Given the description of an element on the screen output the (x, y) to click on. 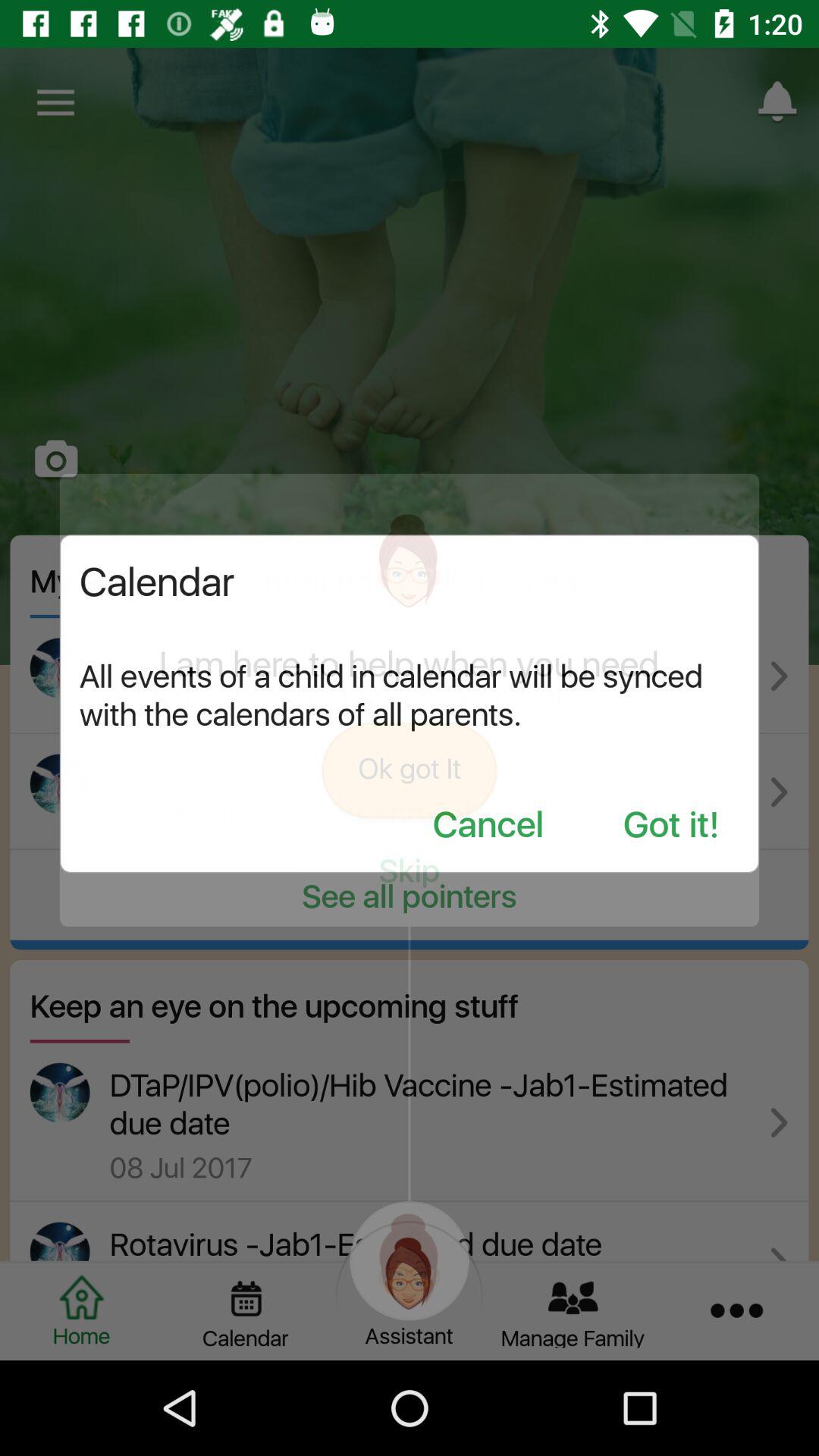
open the item next to the cancel (671, 826)
